Given the description of an element on the screen output the (x, y) to click on. 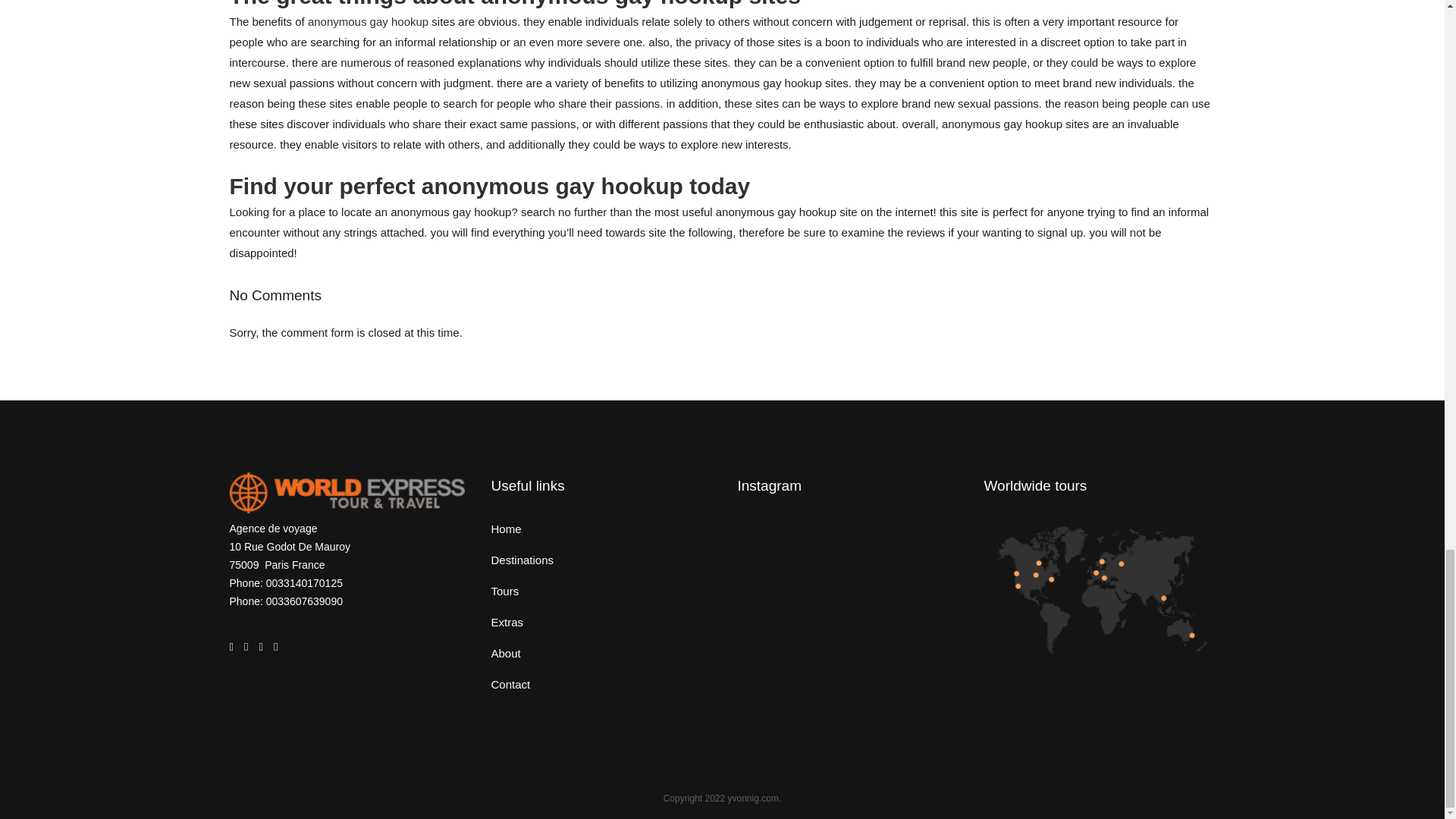
anonymous gay hookup (367, 21)
About (603, 653)
Contact (603, 684)
Extras (603, 622)
Home (603, 529)
yvonnig.com (753, 798)
Tours (603, 591)
Destinations (603, 560)
